Given the description of an element on the screen output the (x, y) to click on. 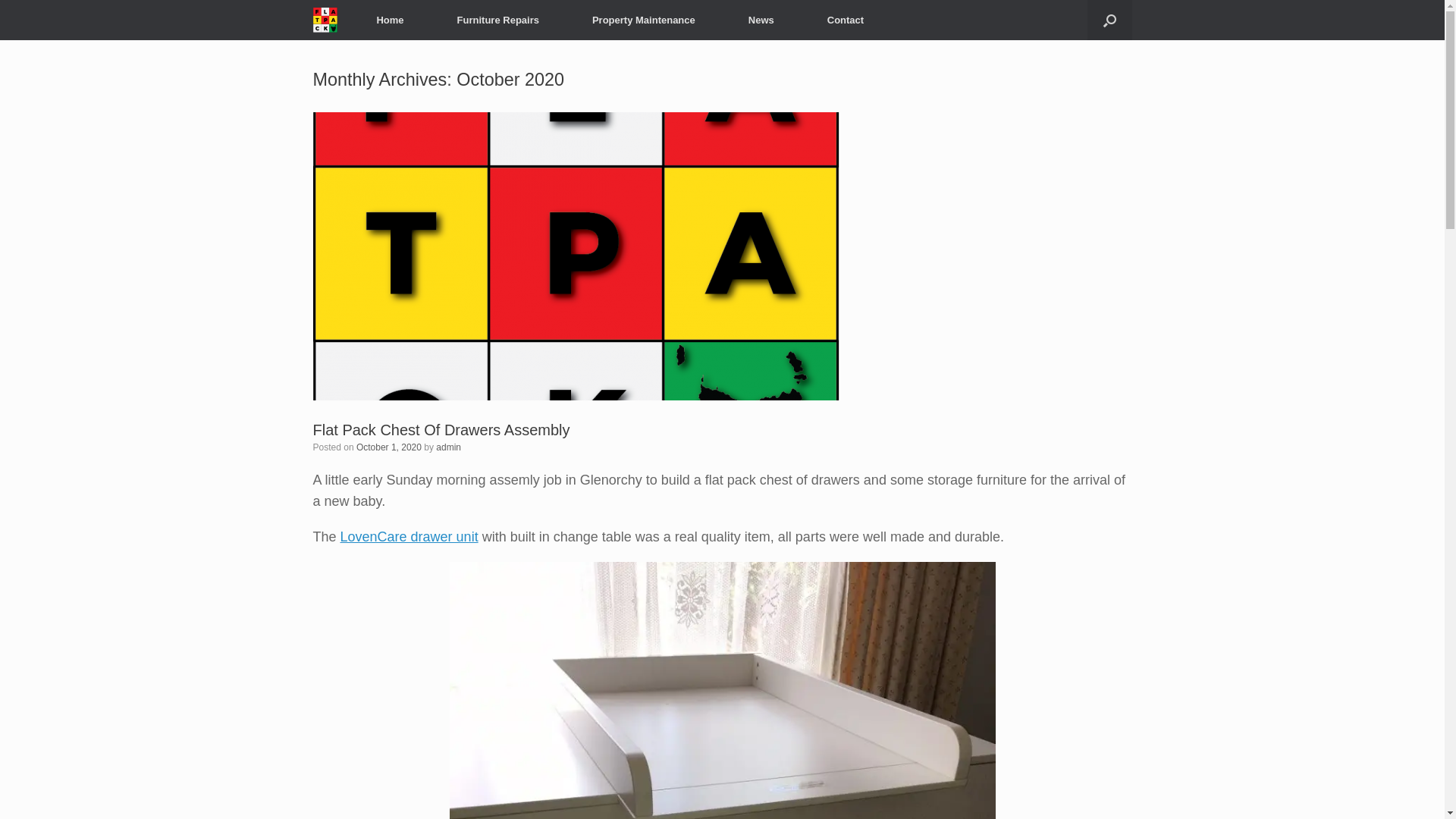
Flat Pack Chest Of Drawers Assembly Element type: text (440, 429)
News Element type: text (760, 20)
admin Element type: text (448, 447)
Property Maintenance Element type: text (643, 20)
October 1, 2020 Element type: text (388, 447)
Contact Element type: text (845, 20)
LovenCare drawer unit Element type: text (409, 536)
Home Element type: text (389, 20)
Flat Pack Tasmania Element type: hover (325, 20)
Furniture Repairs Element type: text (497, 20)
